Given the description of an element on the screen output the (x, y) to click on. 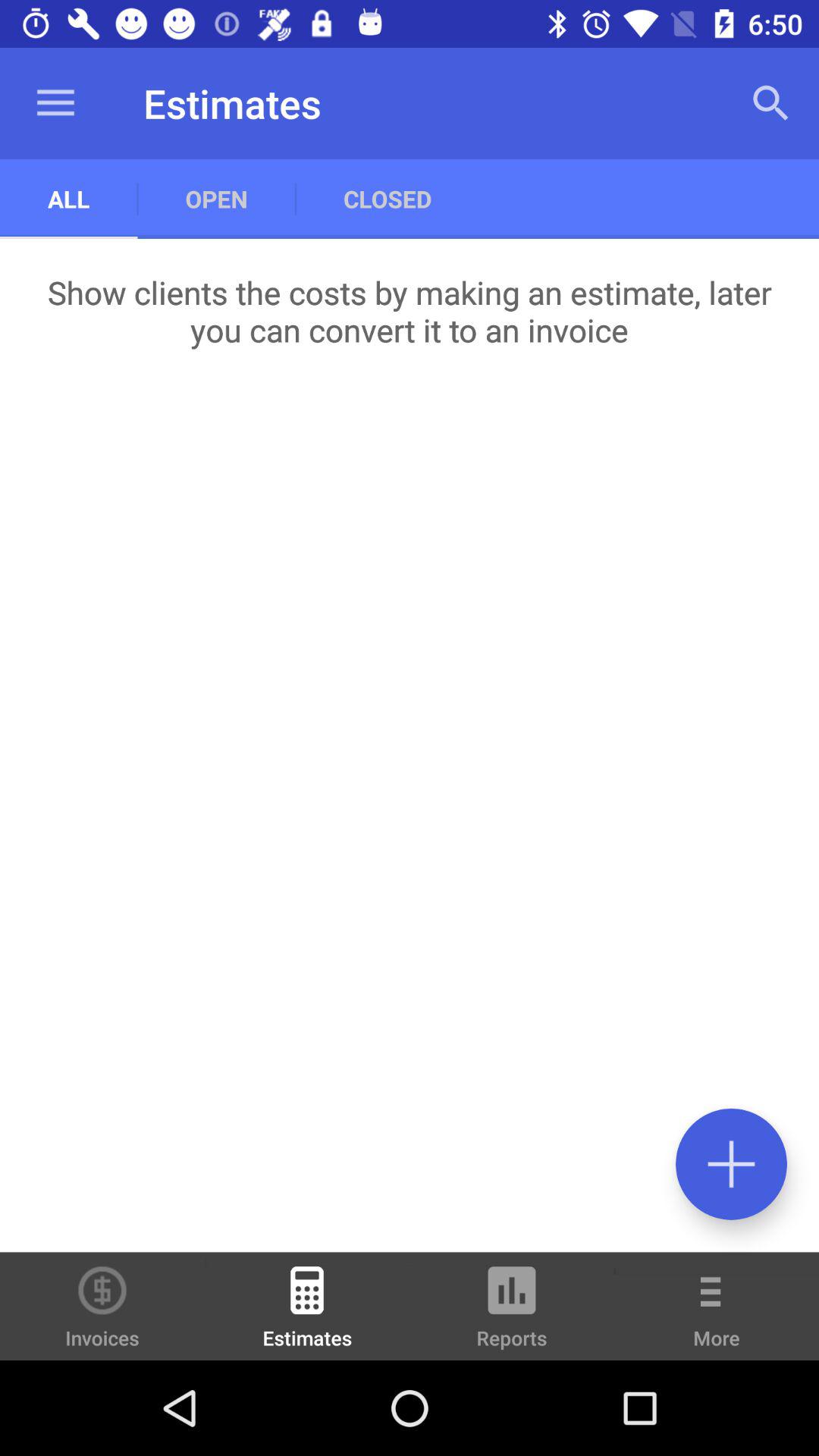
tap app to the right of the closed (771, 103)
